Given the description of an element on the screen output the (x, y) to click on. 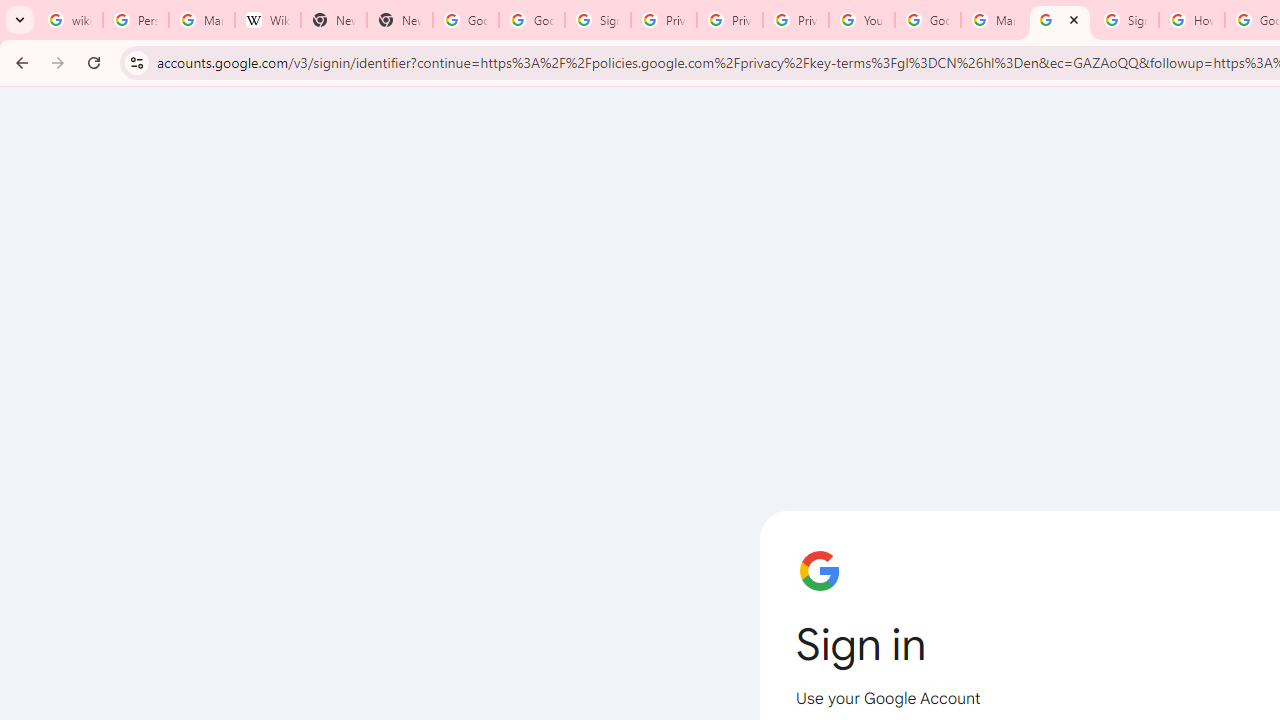
Personalization & Google Search results - Google Search Help (135, 20)
Google Drive: Sign-in (531, 20)
New Tab (399, 20)
Manage your Location History - Google Search Help (202, 20)
Wikipedia:Edit requests - Wikipedia (267, 20)
YouTube (861, 20)
